Given the description of an element on the screen output the (x, y) to click on. 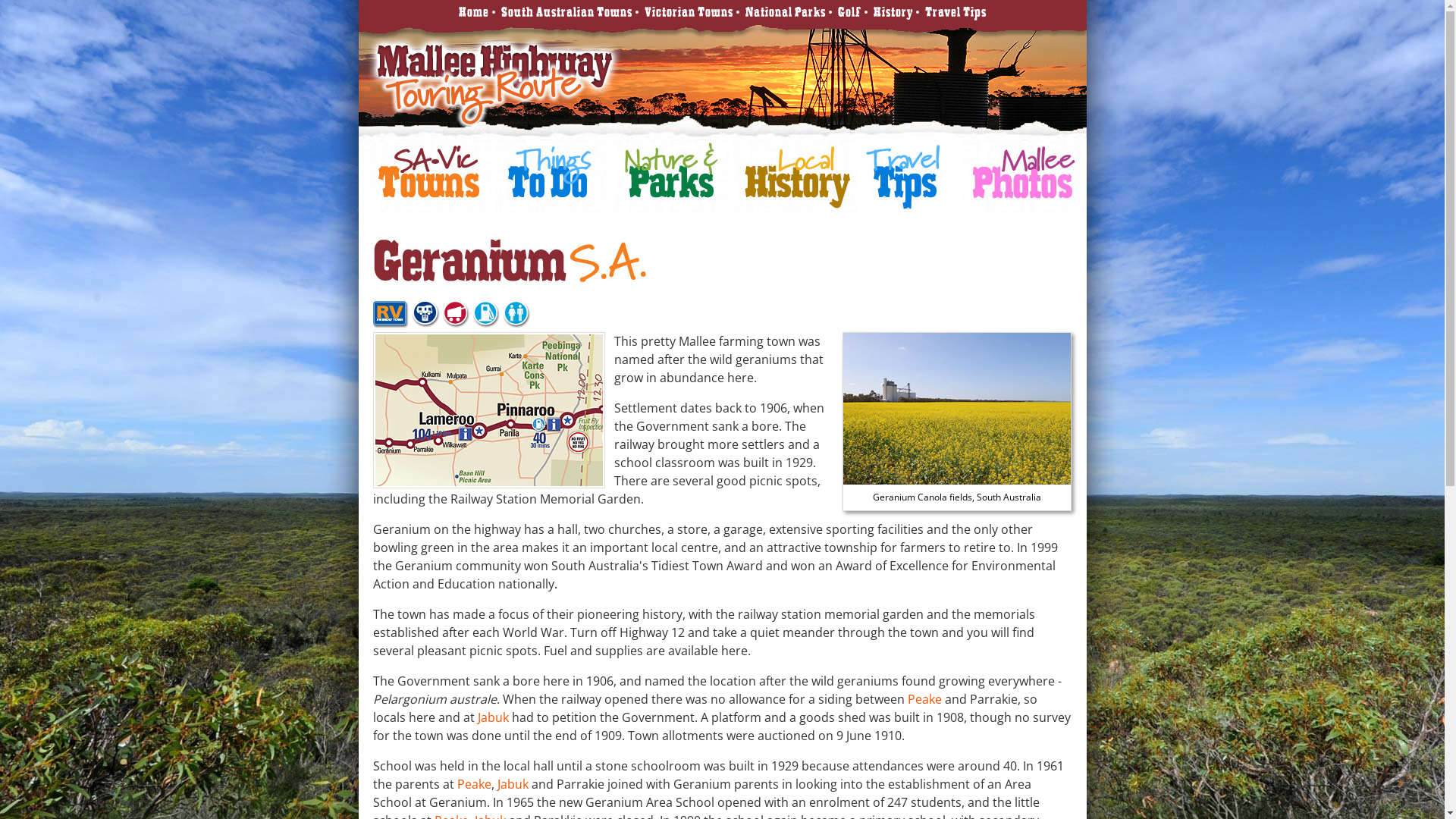
Peake Element type: text (474, 783)
Jabuk Element type: text (512, 783)
Travel Tips Element type: text (955, 11)
National Parks Element type: text (784, 11)
Home Element type: text (473, 11)
South Australian Towns Element type: text (565, 11)
Jabuk Element type: text (492, 717)
Golf Element type: text (848, 11)
Victorian Towns Element type: text (688, 11)
History Element type: text (893, 11)
Peake Element type: text (924, 698)
